Given the description of an element on the screen output the (x, y) to click on. 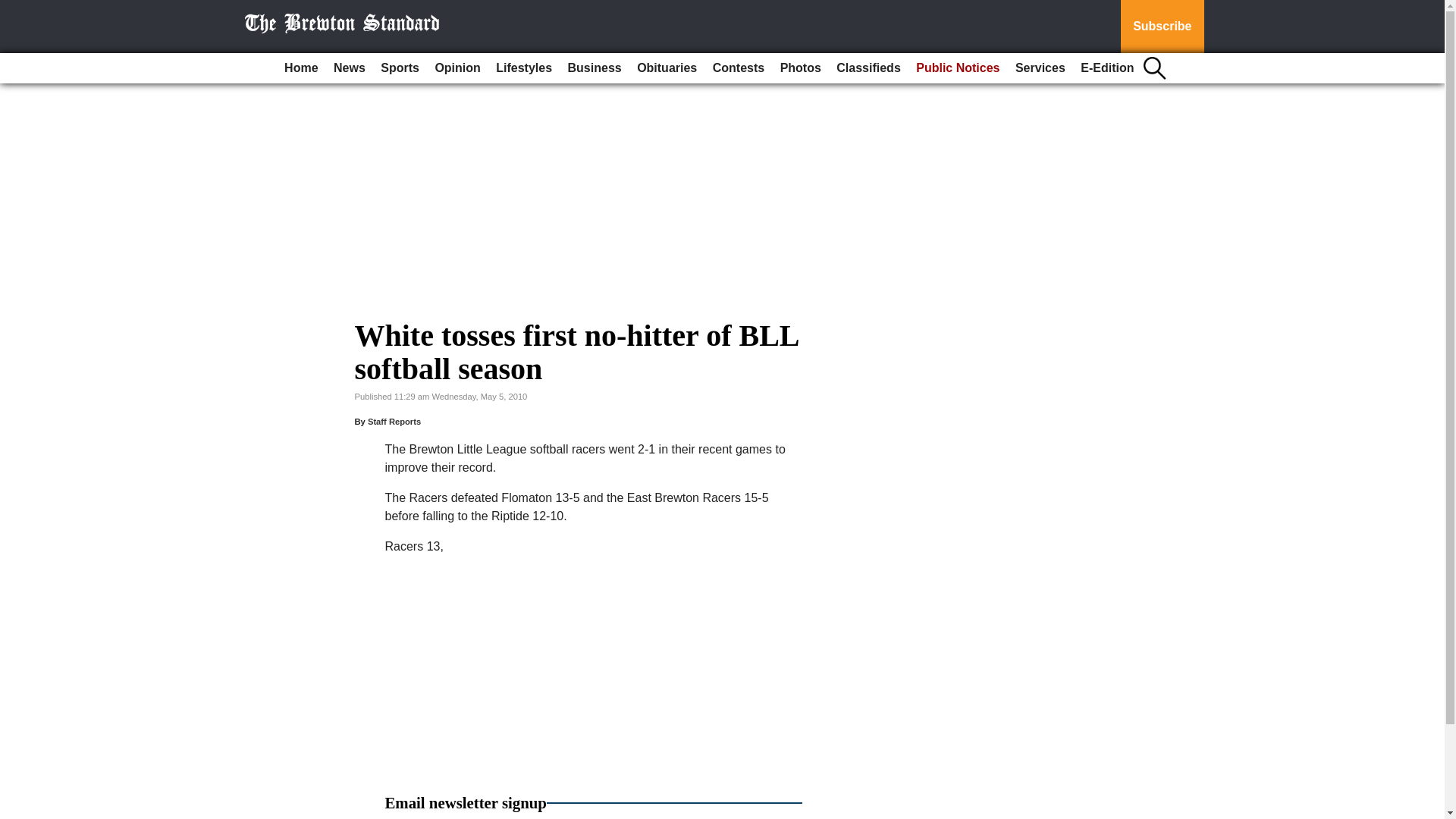
Public Notices (958, 68)
Staff Reports (394, 420)
Obituaries (666, 68)
Lifestyles (523, 68)
Subscribe (1162, 26)
Home (300, 68)
Opinion (457, 68)
E-Edition (1107, 68)
Photos (800, 68)
Business (594, 68)
